Given the description of an element on the screen output the (x, y) to click on. 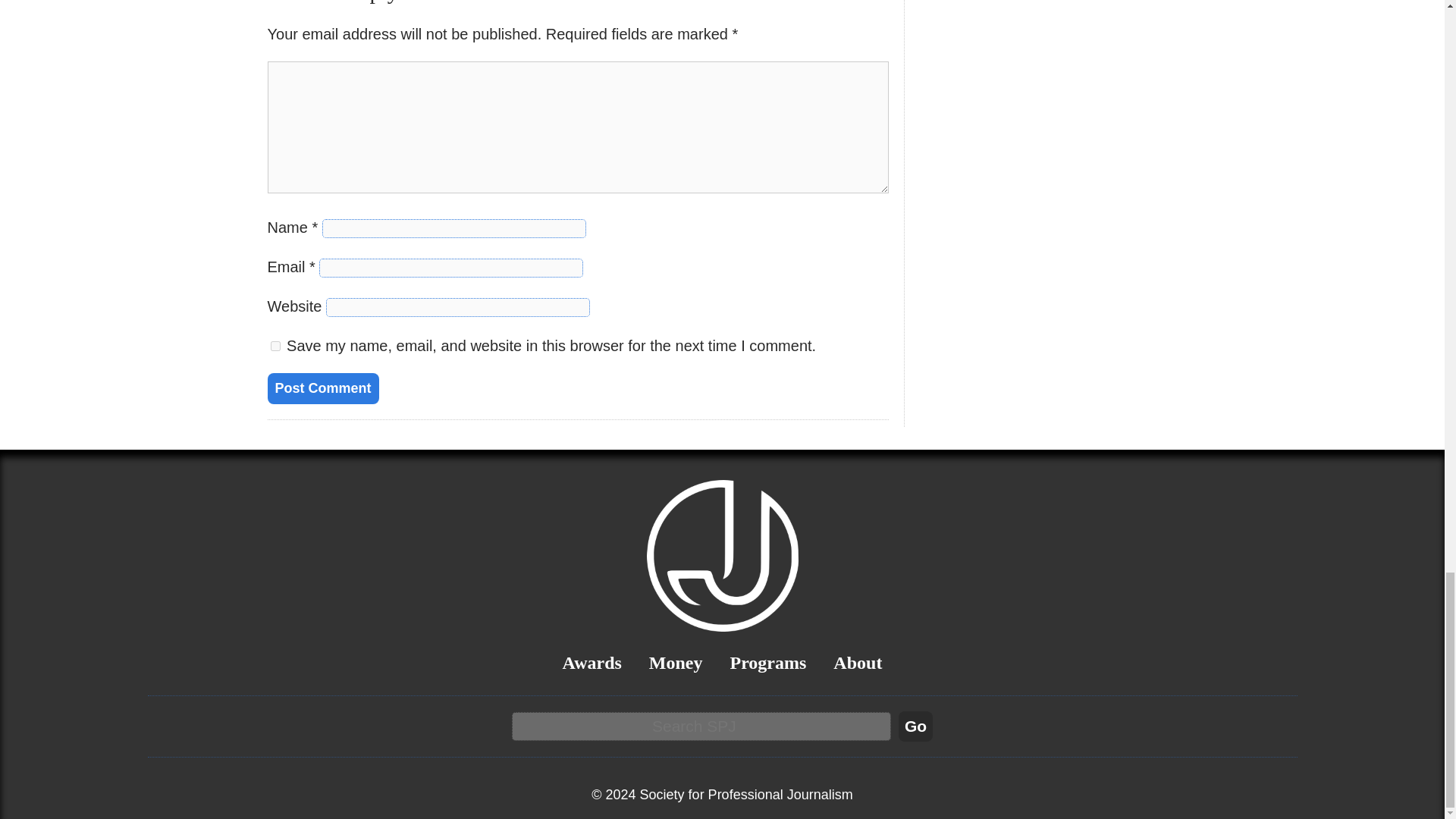
yes (274, 346)
Programs (767, 662)
Money (676, 662)
Awards (591, 662)
About (857, 662)
Go (915, 726)
Go (915, 726)
Post Comment (322, 388)
Post Comment (322, 388)
